Given the description of an element on the screen output the (x, y) to click on. 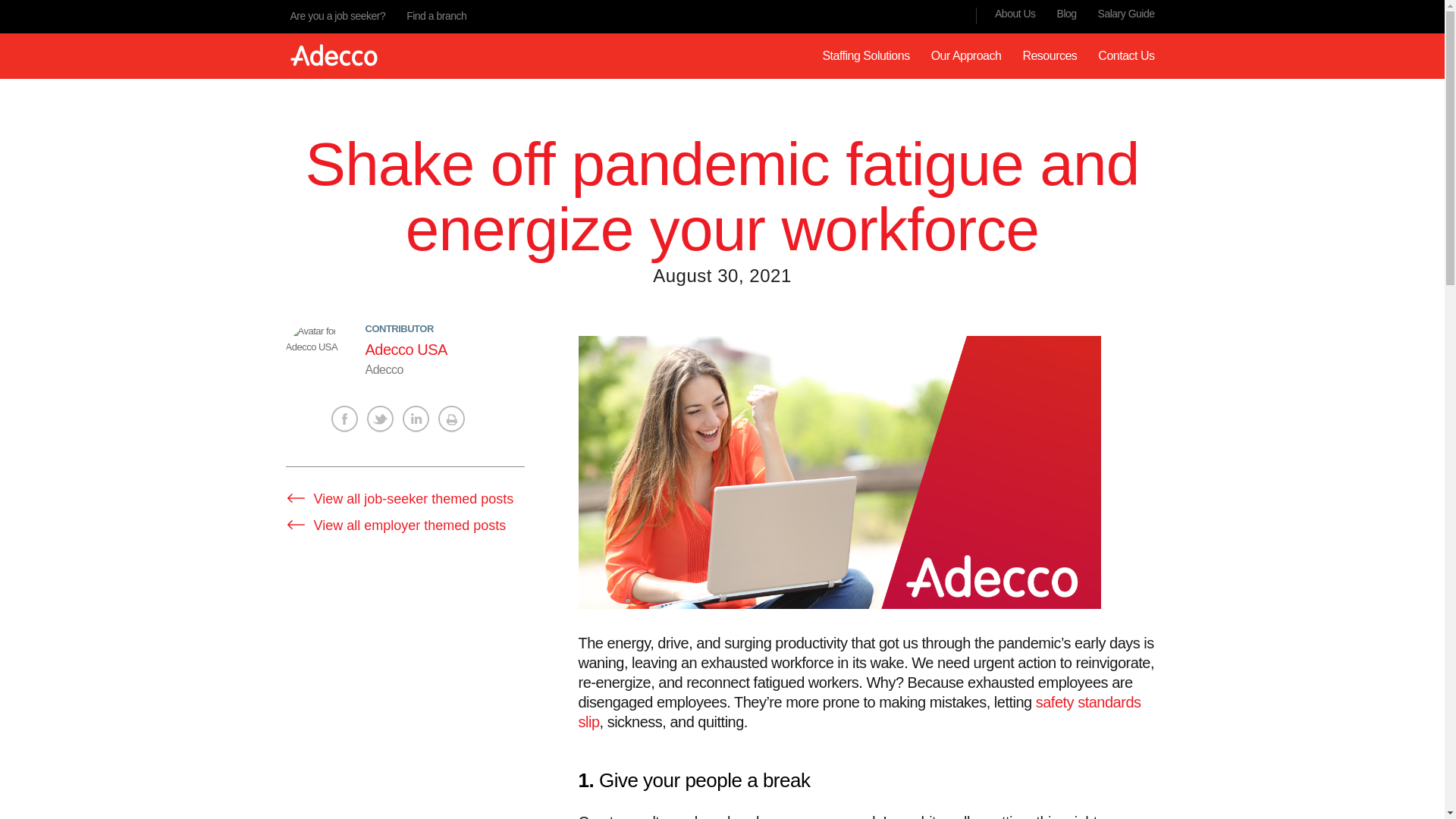
Blog (1067, 13)
Adecco USA (315, 353)
Contact Us (1125, 55)
Resources (1049, 55)
Our Approach (965, 55)
safety standards slip (859, 711)
Are you a job seeker? (337, 15)
Salary Guide (1125, 13)
Staffing Solutions (865, 55)
Find a branch (435, 15)
About Us (1014, 13)
Adecco USA (405, 349)
View all job-seeker themed posts (399, 498)
View all employer themed posts (395, 525)
